Given the description of an element on the screen output the (x, y) to click on. 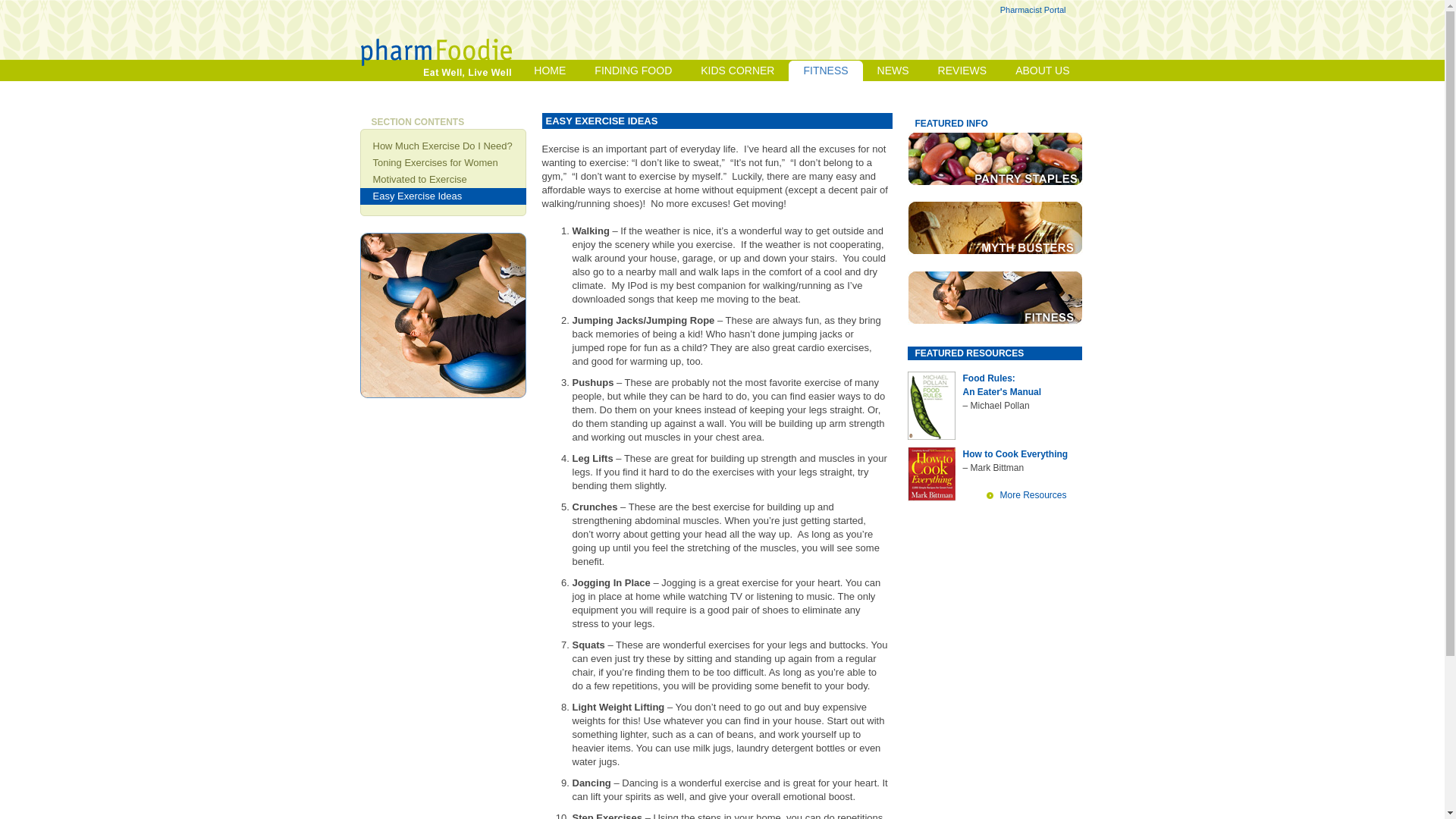
HOME (549, 70)
FINDING FOOD (632, 70)
Pharmacist Portal (1032, 9)
